Given the description of an element on the screen output the (x, y) to click on. 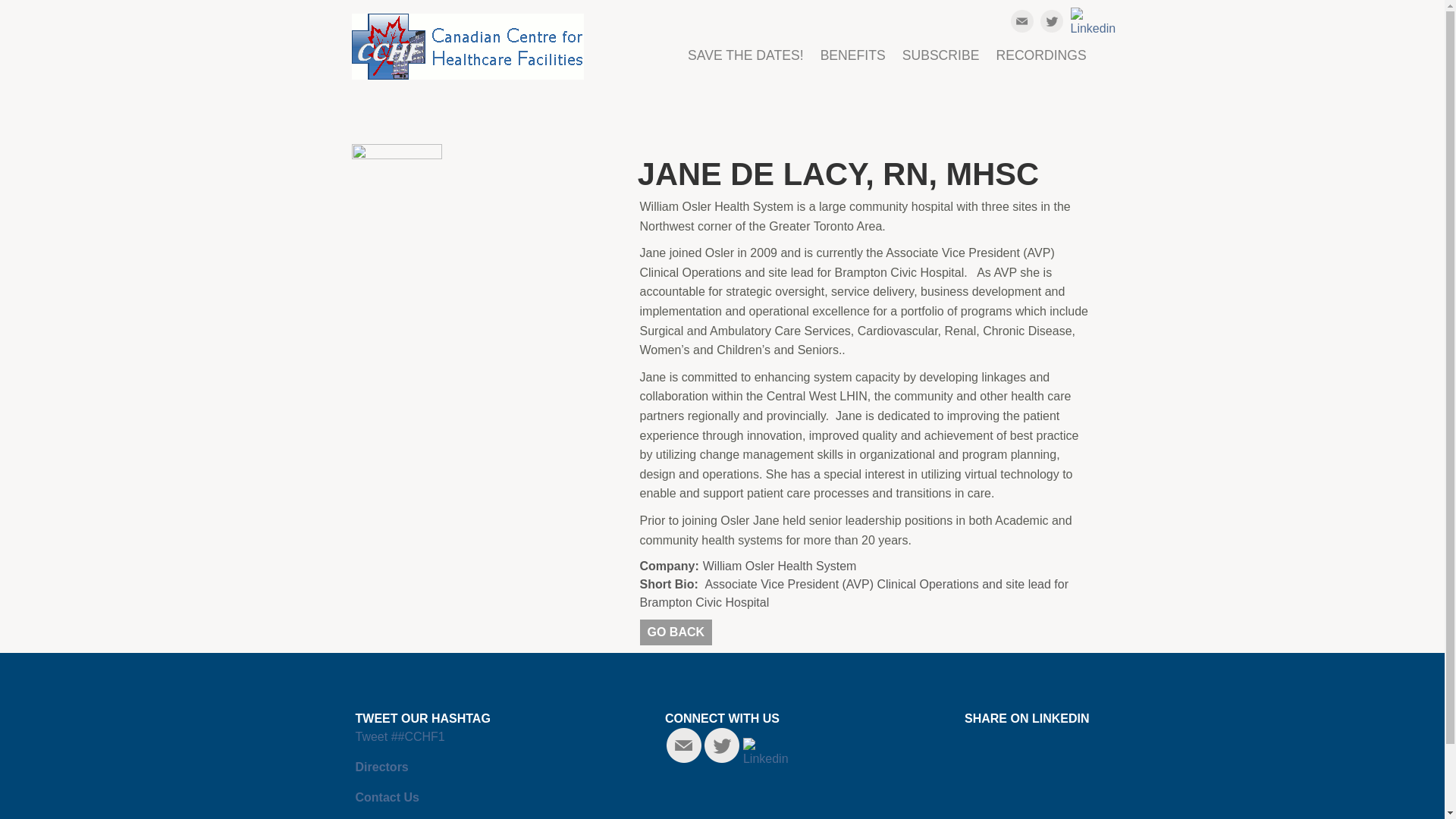
SAVE THE DATES! (745, 64)
Directors (381, 766)
SUBSCRIBE (940, 64)
BENEFITS (852, 64)
RECORDINGS (1041, 64)
Contact Us (387, 797)
GO BACK (676, 632)
